Given the description of an element on the screen output the (x, y) to click on. 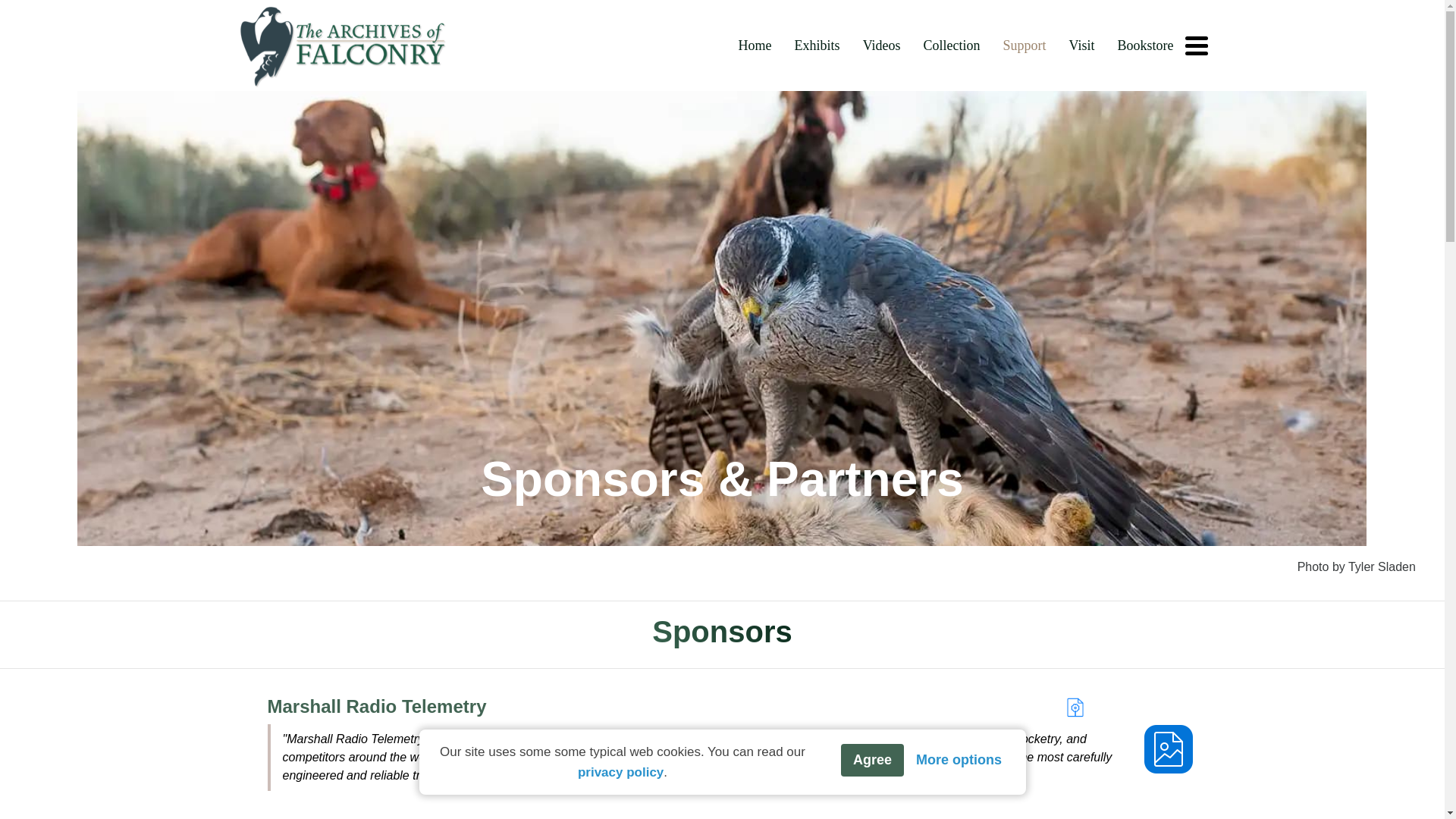
Home (754, 45)
Privacy Policy (619, 771)
Videos (882, 45)
privacy policy (619, 771)
Support (1024, 45)
Agree (871, 759)
More options (958, 759)
Exhibits (817, 45)
Collection (951, 45)
Cookie Manager (958, 759)
